Given the description of an element on the screen output the (x, y) to click on. 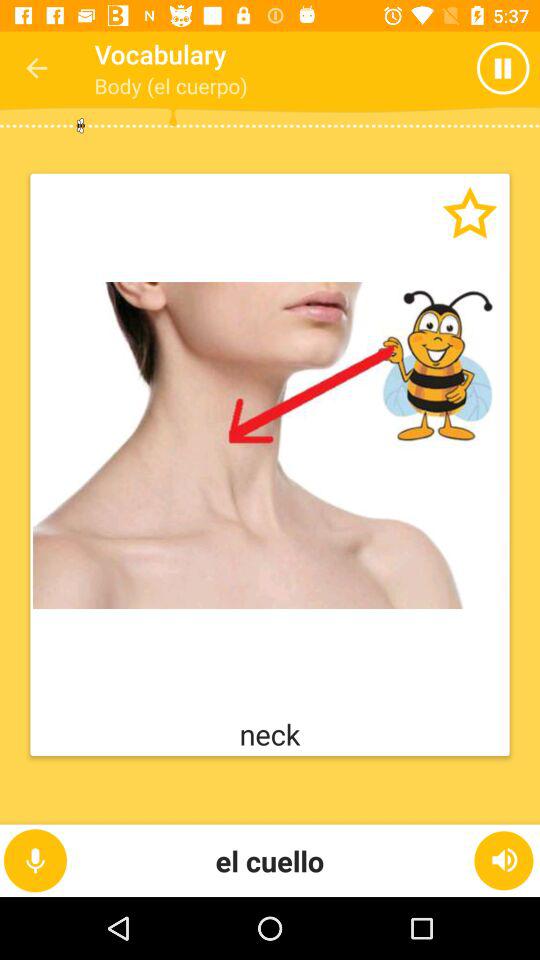
open item to the right of body (el cuerpo) icon (508, 67)
